Given the description of an element on the screen output the (x, y) to click on. 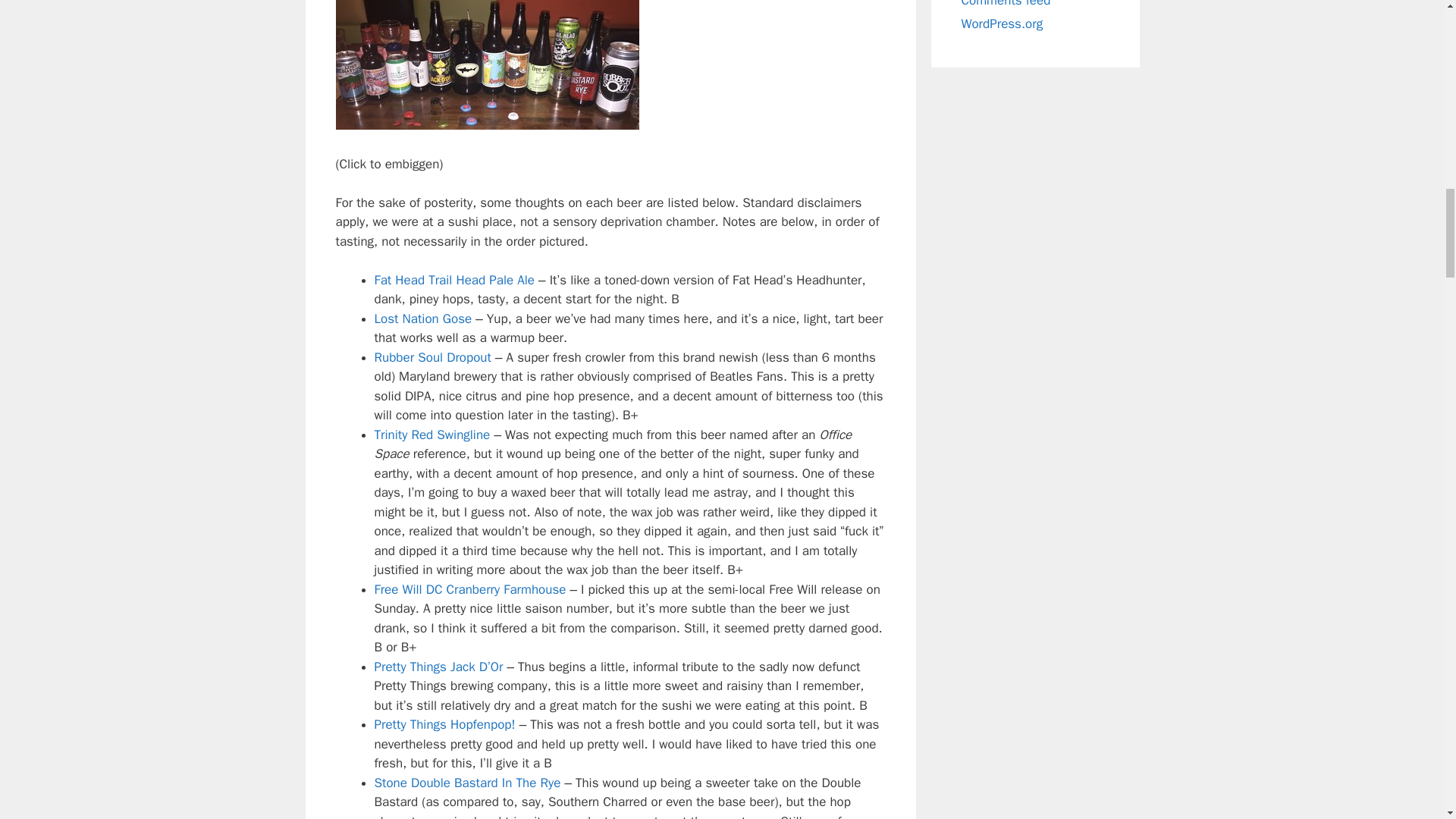
Fat Head Trail Head Pale Ale (454, 279)
Lost Nation Gose (422, 318)
Rubber Soul Dropout (433, 357)
Free Will DC Cranberry Farmhouse (470, 589)
Trinity Red Swingline (432, 434)
Stone Double Bastard In The Rye (467, 782)
Pretty Things Hopfenpop! (444, 724)
